Given the description of an element on the screen output the (x, y) to click on. 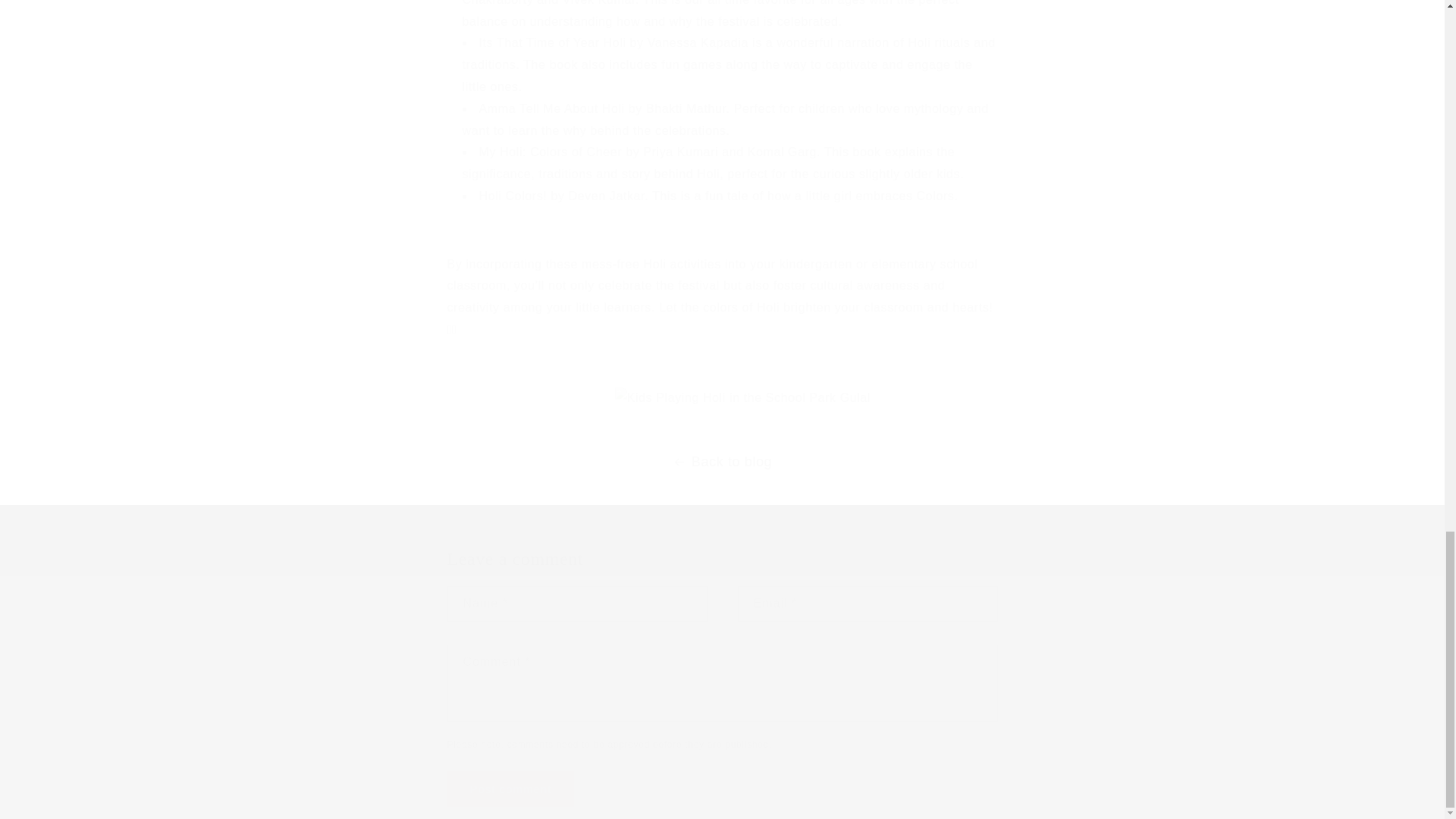
Post comment (510, 788)
